Given the description of an element on the screen output the (x, y) to click on. 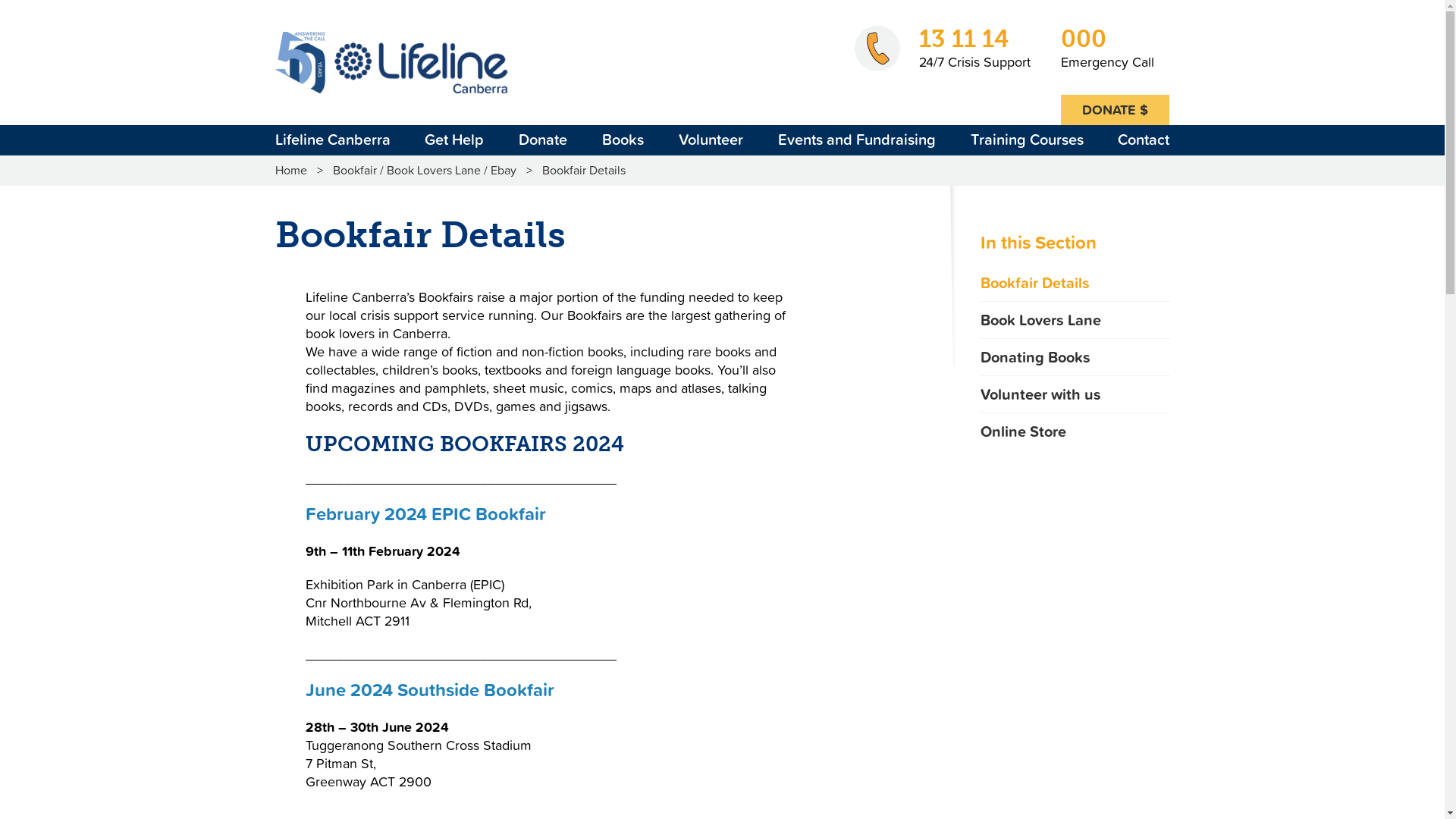
Donate Element type: text (542, 140)
DONATE $ Element type: text (1114, 109)
Training Courses Element type: text (1026, 140)
Volunteer with us Element type: text (1074, 394)
Contact Element type: text (1143, 140)
Bookfair / Book Lovers Lane / Ebay Element type: text (424, 169)
13 11 14 Element type: text (974, 38)
Volunteer Element type: text (710, 140)
Bookfair Details Element type: text (1074, 282)
Lifeline Canberra Element type: hover (391, 62)
Events and Fundraising Element type: text (856, 140)
Get Help Element type: text (453, 140)
Books Element type: text (622, 140)
Book Lovers Lane Element type: text (1074, 319)
Donating Books Element type: text (1074, 356)
Home Element type: text (295, 169)
000 Element type: text (1107, 38)
Online Store Element type: text (1074, 431)
Lifeline Canberra Element type: text (331, 140)
